Given the description of an element on the screen output the (x, y) to click on. 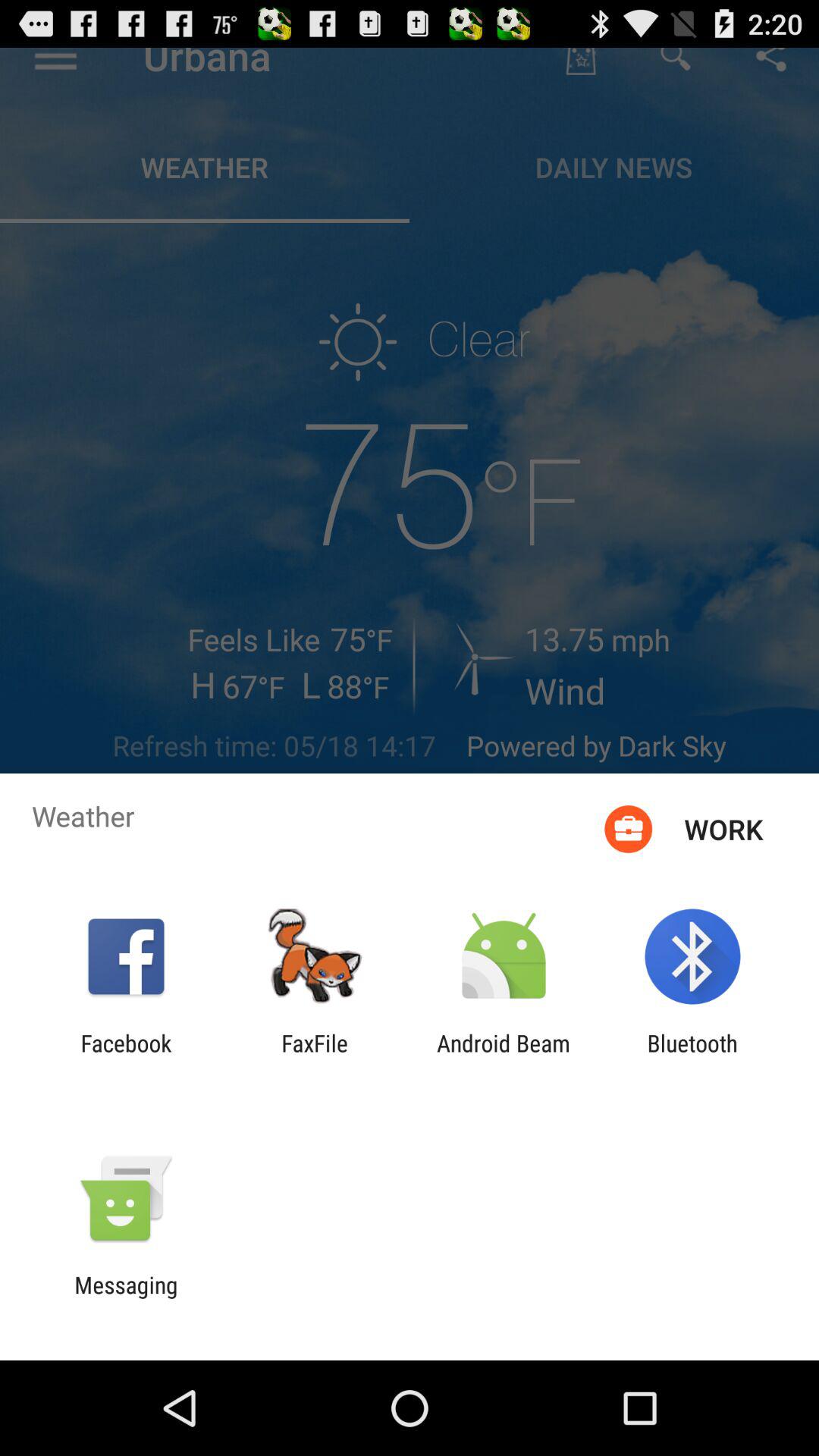
tap the item to the left of the bluetooth item (503, 1056)
